Given the description of an element on the screen output the (x, y) to click on. 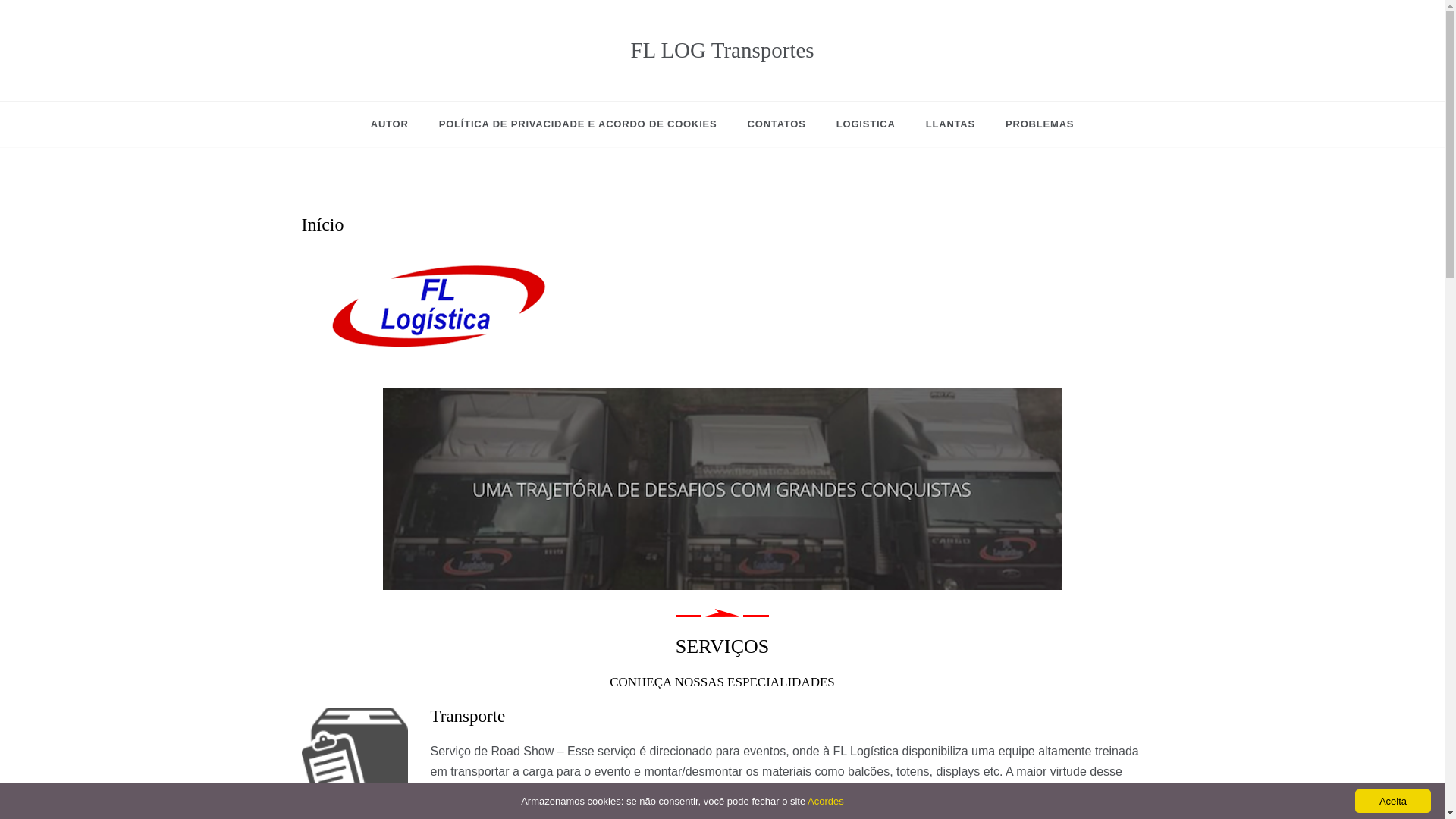
CONTATOS (776, 124)
FL LOG Transportes (721, 49)
AUTOR (397, 124)
Acordes (826, 800)
PROBLEMAS (1032, 124)
LLANTAS (950, 124)
LOGISTICA (866, 124)
